Given the description of an element on the screen output the (x, y) to click on. 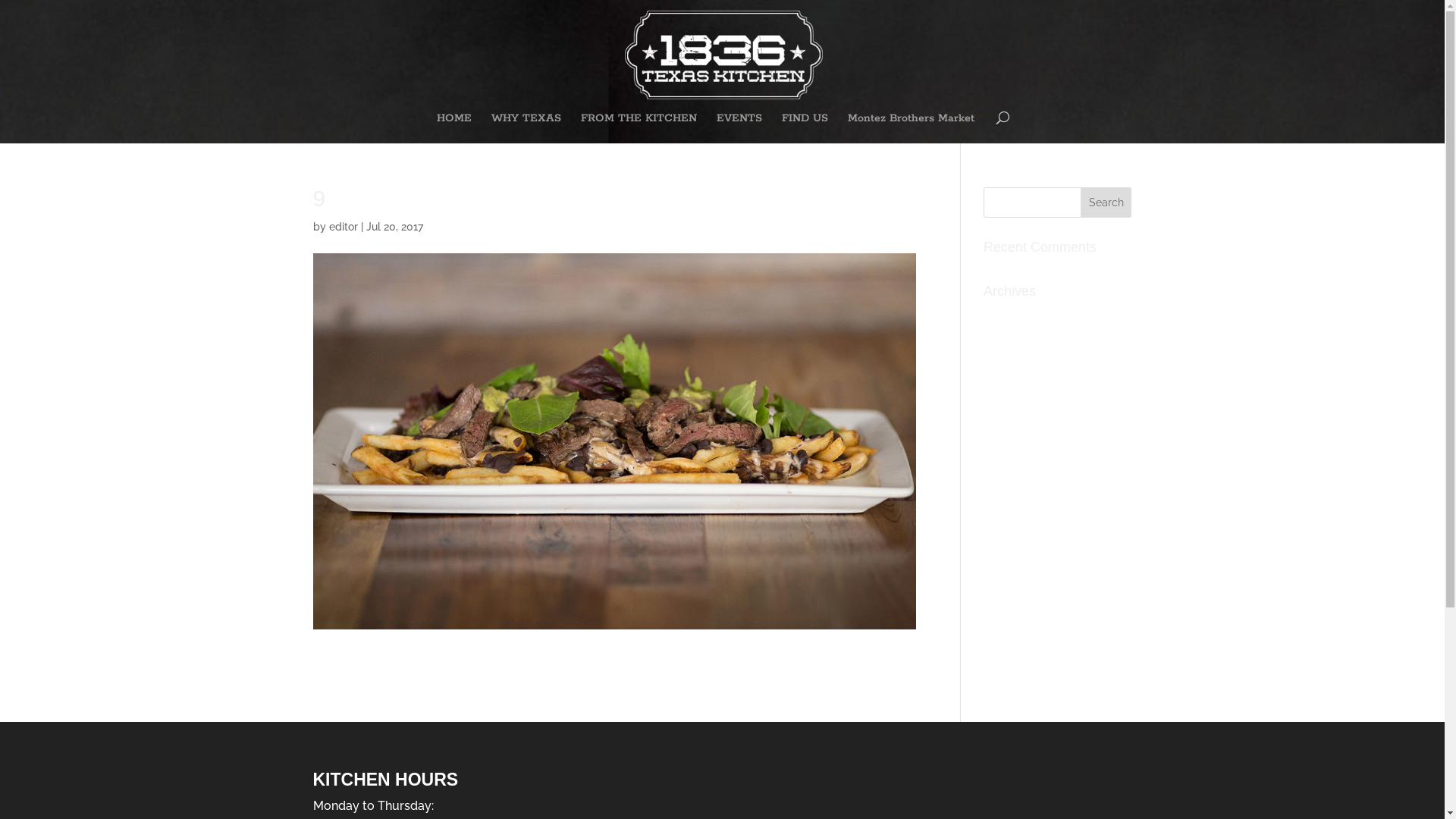
FIND US Element type: text (804, 127)
EVENTS Element type: text (739, 127)
FROM THE KITCHEN Element type: text (638, 127)
Montez Brothers Market Element type: text (910, 127)
WHY TEXAS Element type: text (526, 127)
HOME Element type: text (453, 127)
editor Element type: text (343, 226)
Search Element type: text (1106, 202)
